Given the description of an element on the screen output the (x, y) to click on. 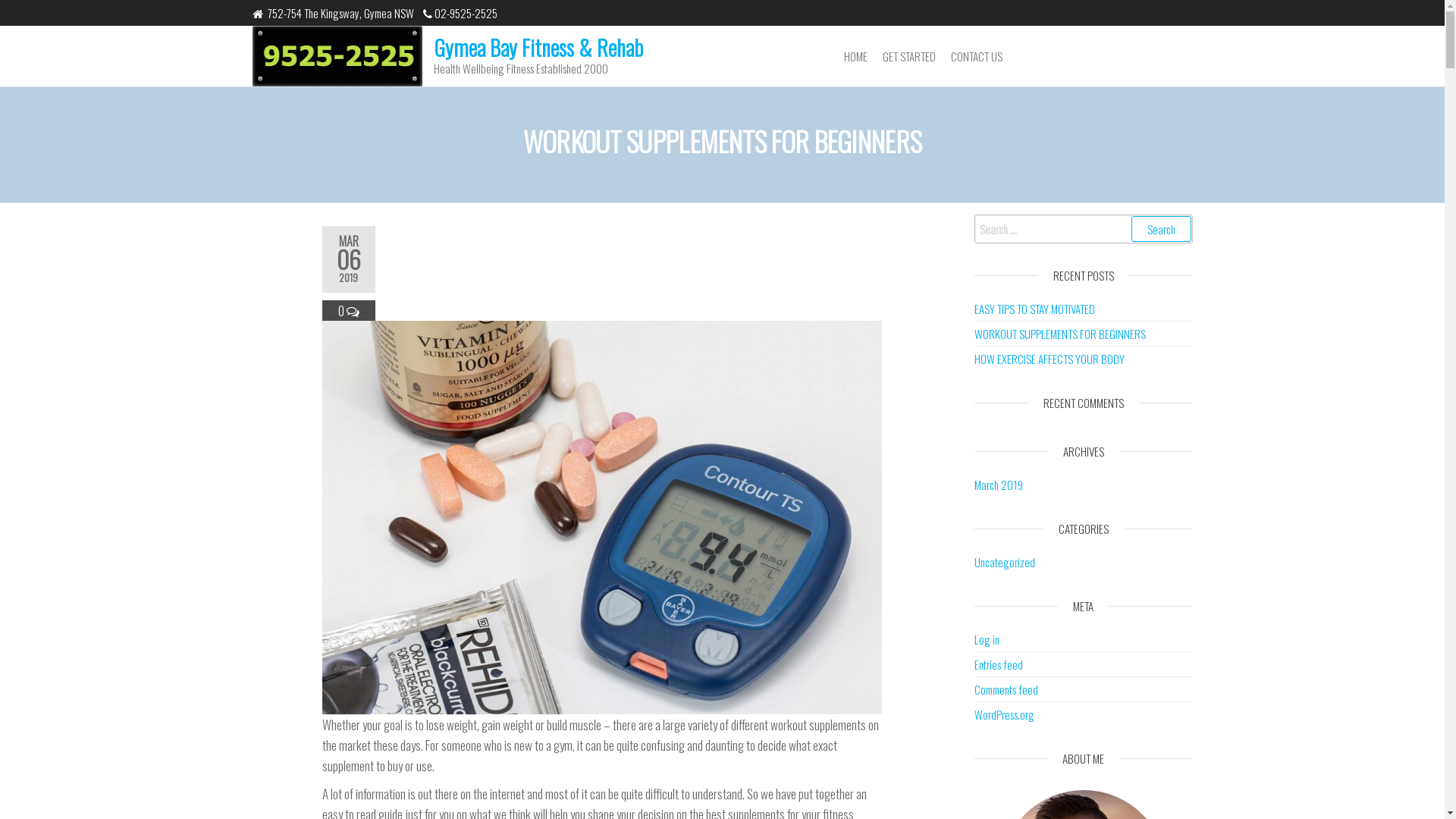
WordPress.org Element type: text (1004, 714)
HOME Element type: text (855, 55)
March 2019 Element type: text (998, 484)
CONTACT US Element type: text (976, 55)
WORKOUT SUPPLEMENTS FOR BEGINNERS Element type: text (1059, 333)
EASY TIPS TO STAY MOTIVATED Element type: text (1034, 308)
Log in Element type: text (986, 638)
Uncategorized Element type: text (1004, 561)
HOW EXERCISE AFFECTS YOUR BODY Element type: text (1049, 358)
Entries feed Element type: text (998, 663)
Search Element type: text (1161, 228)
GET STARTED Element type: text (909, 55)
Comments feed Element type: text (1006, 688)
0 Element type: text (342, 310)
Gymea Bay Fitness & Rehab Element type: text (538, 46)
